Given the description of an element on the screen output the (x, y) to click on. 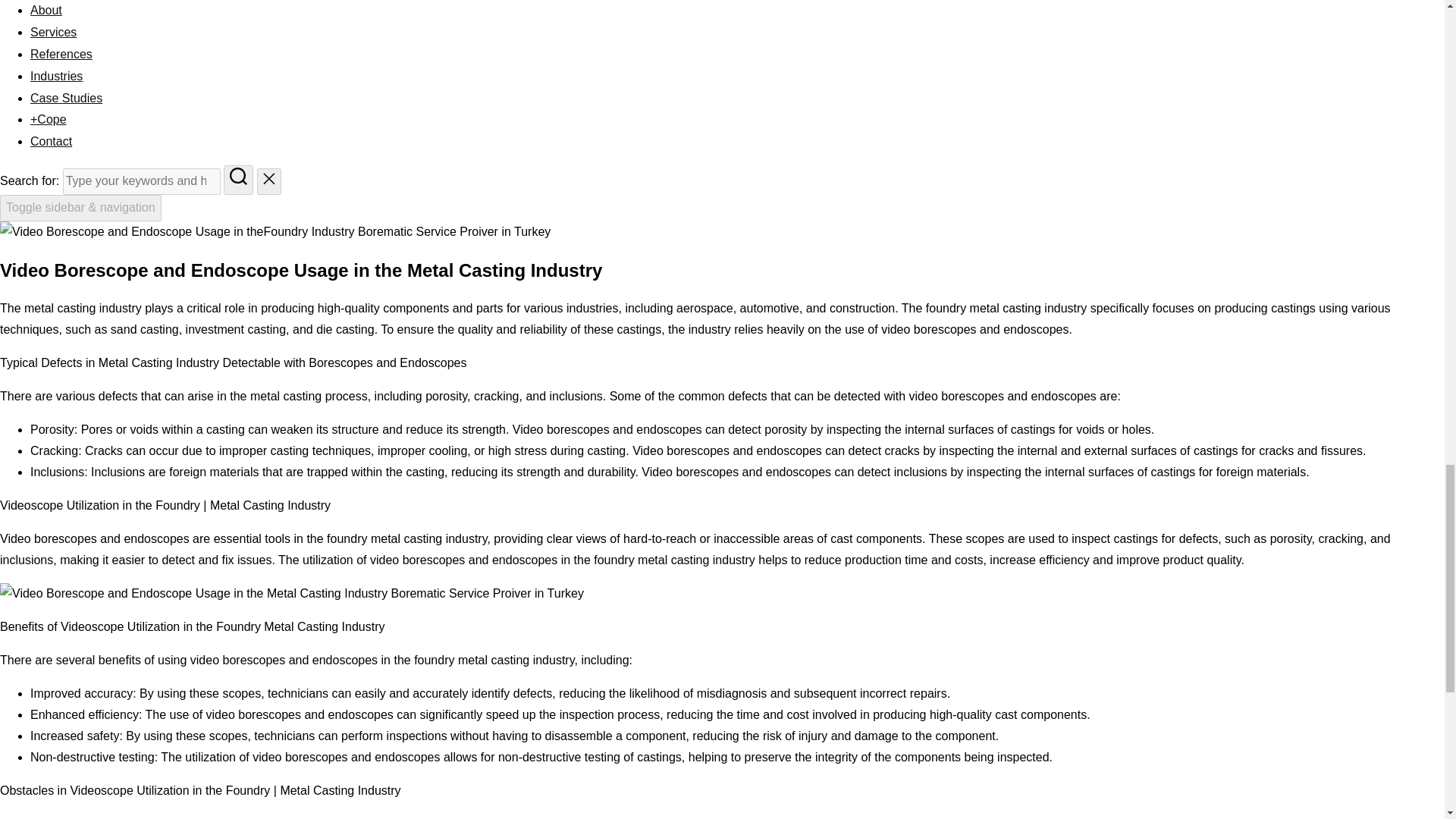
Contact (50, 141)
About (46, 10)
Services (53, 31)
Case Studies (65, 97)
References (61, 53)
Industries (56, 75)
